Given the description of an element on the screen output the (x, y) to click on. 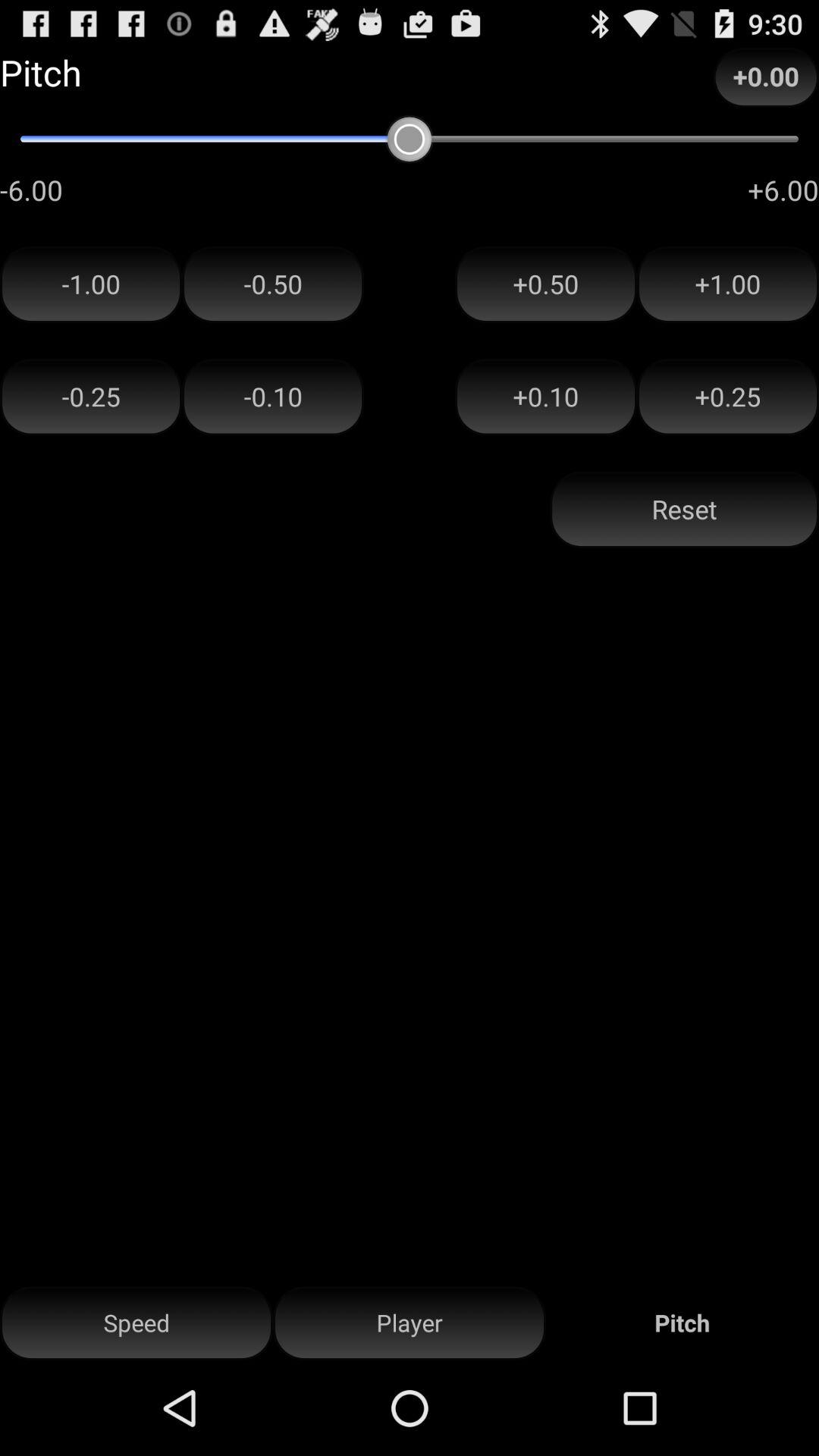
flip to player (409, 1323)
